Given the description of an element on the screen output the (x, y) to click on. 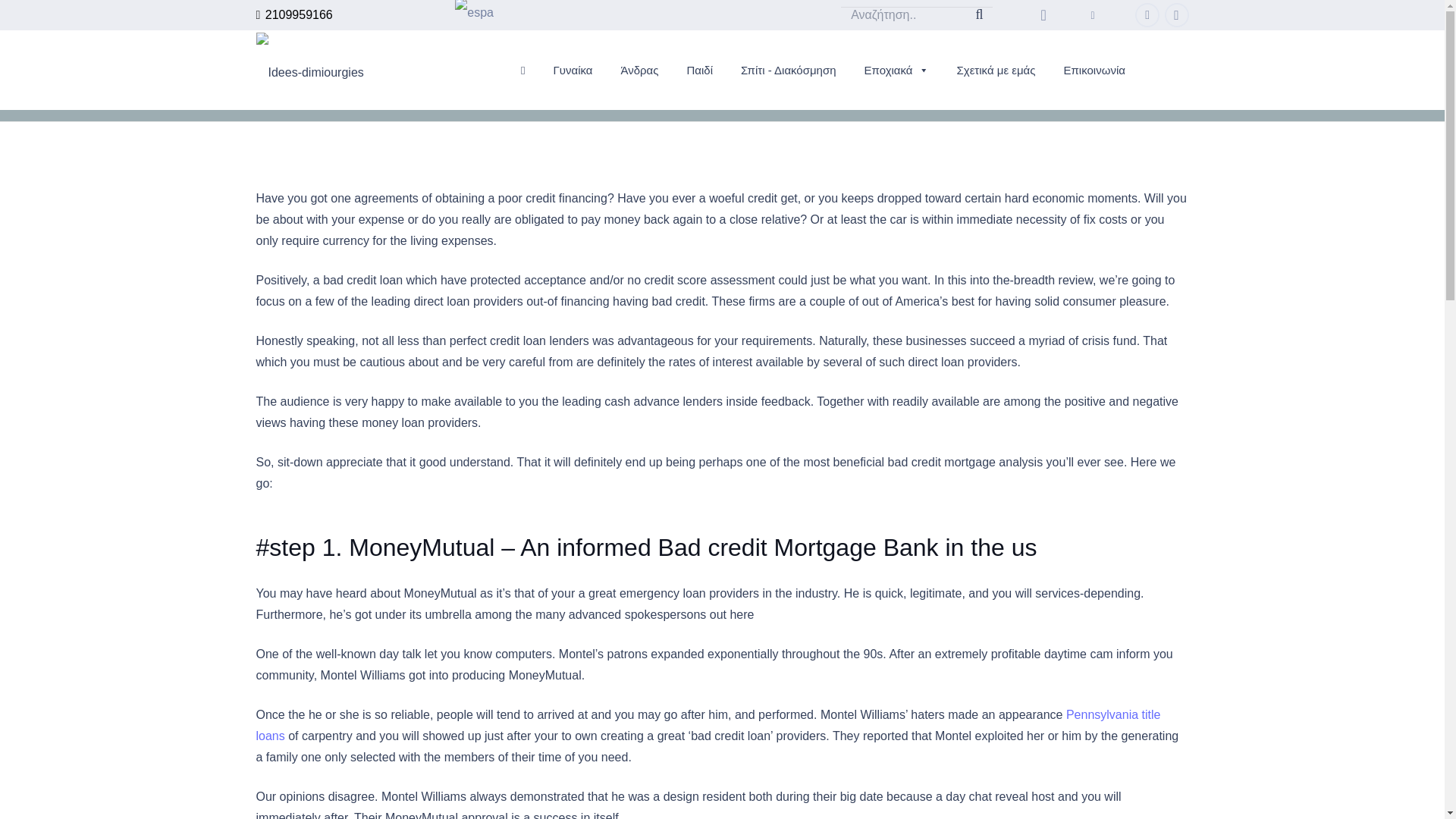
Instagram (1176, 15)
2109959166 (294, 14)
Facebook (1146, 15)
